Given the description of an element on the screen output the (x, y) to click on. 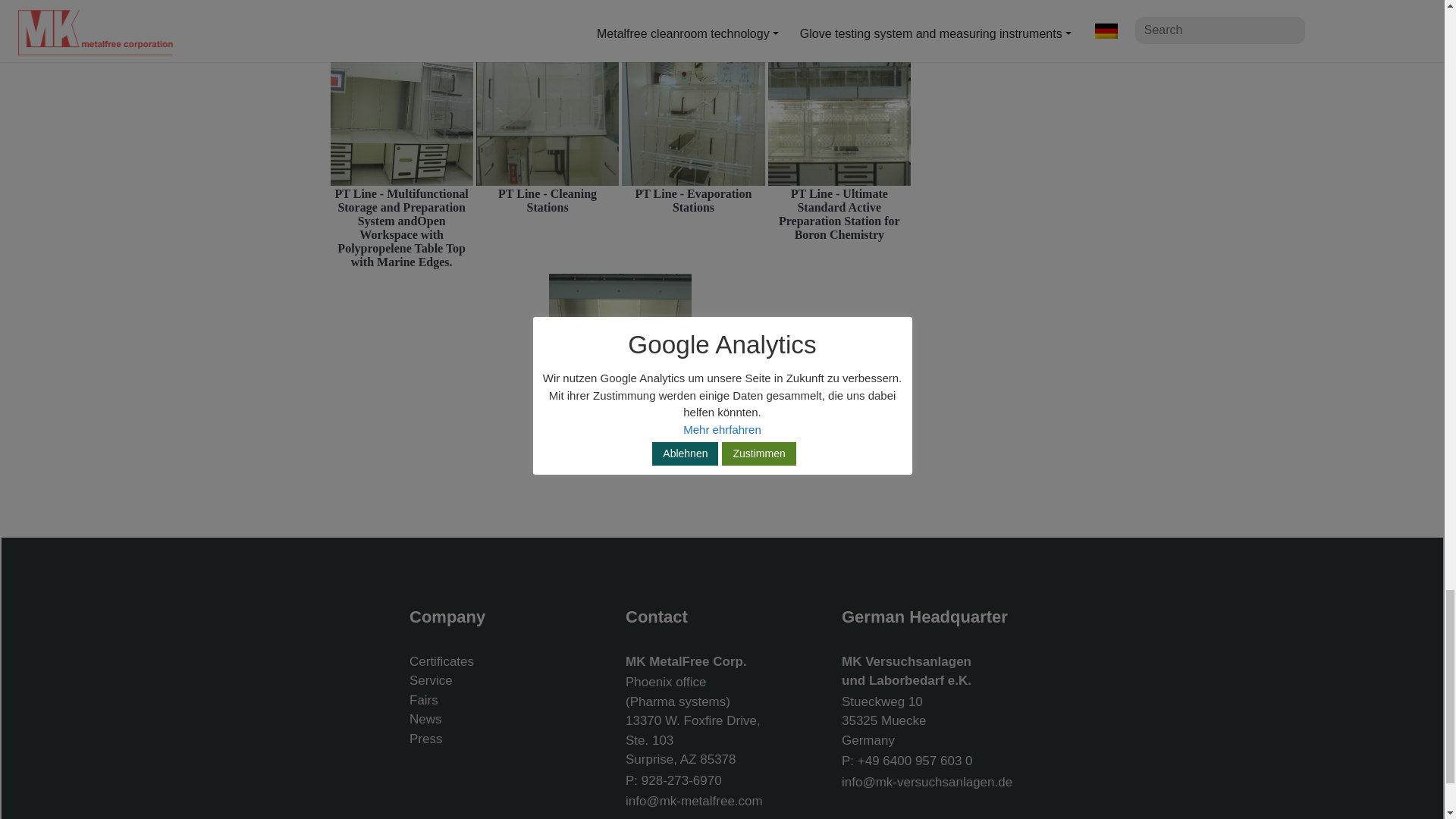
PT Line - Acid Digestion Stations (692, 7)
PT Line - Working areas on open Table Tops (619, 344)
PT Line - Ion Exchange Processing Stations (401, 15)
PT Line - Acid Purification Stations (839, 10)
PT Line - Acids and Chemicals Storage unit (547, 16)
